Given the description of an element on the screen output the (x, y) to click on. 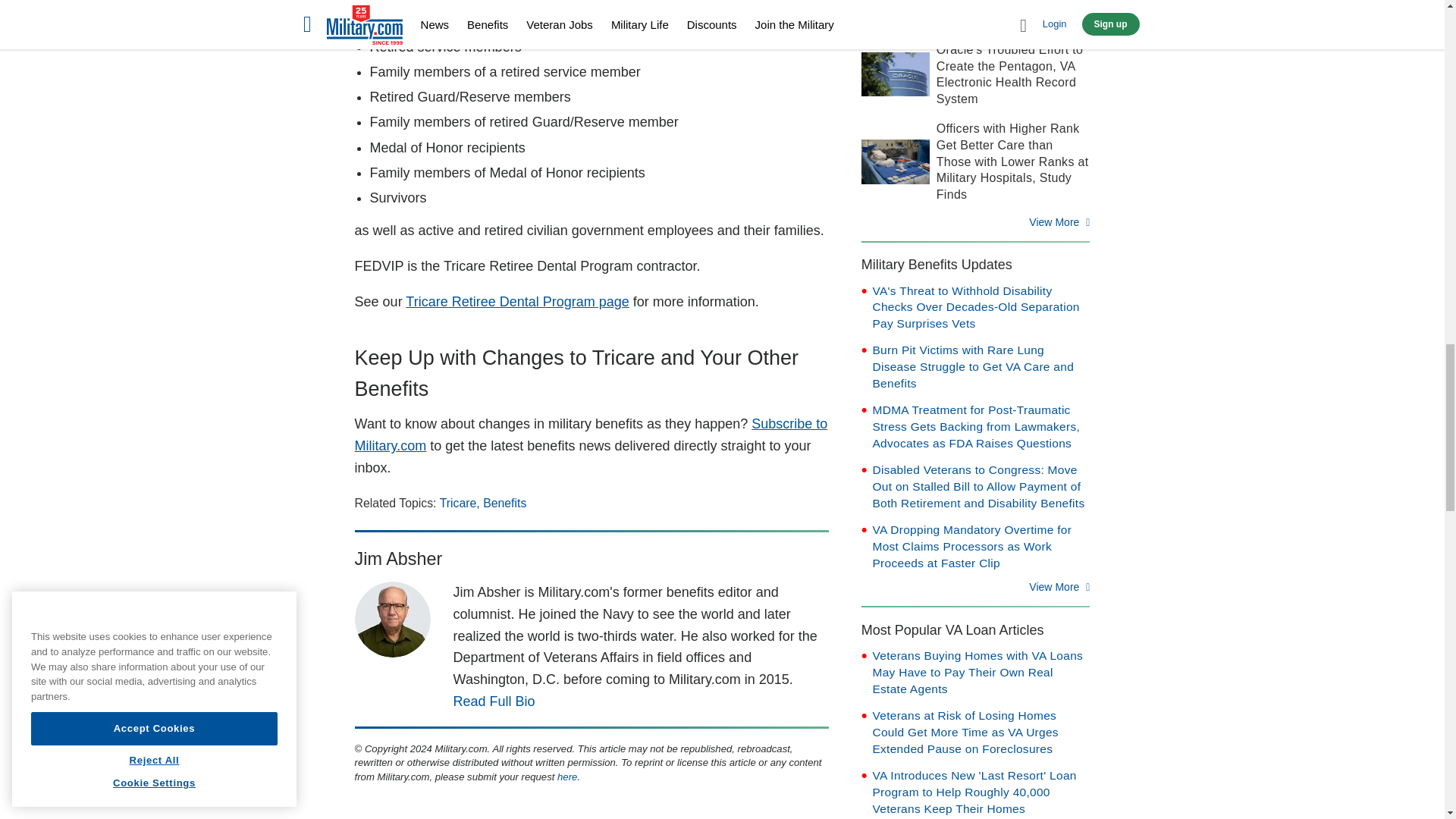
Jim Absher, Military.com (392, 619)
